Given the description of an element on the screen output the (x, y) to click on. 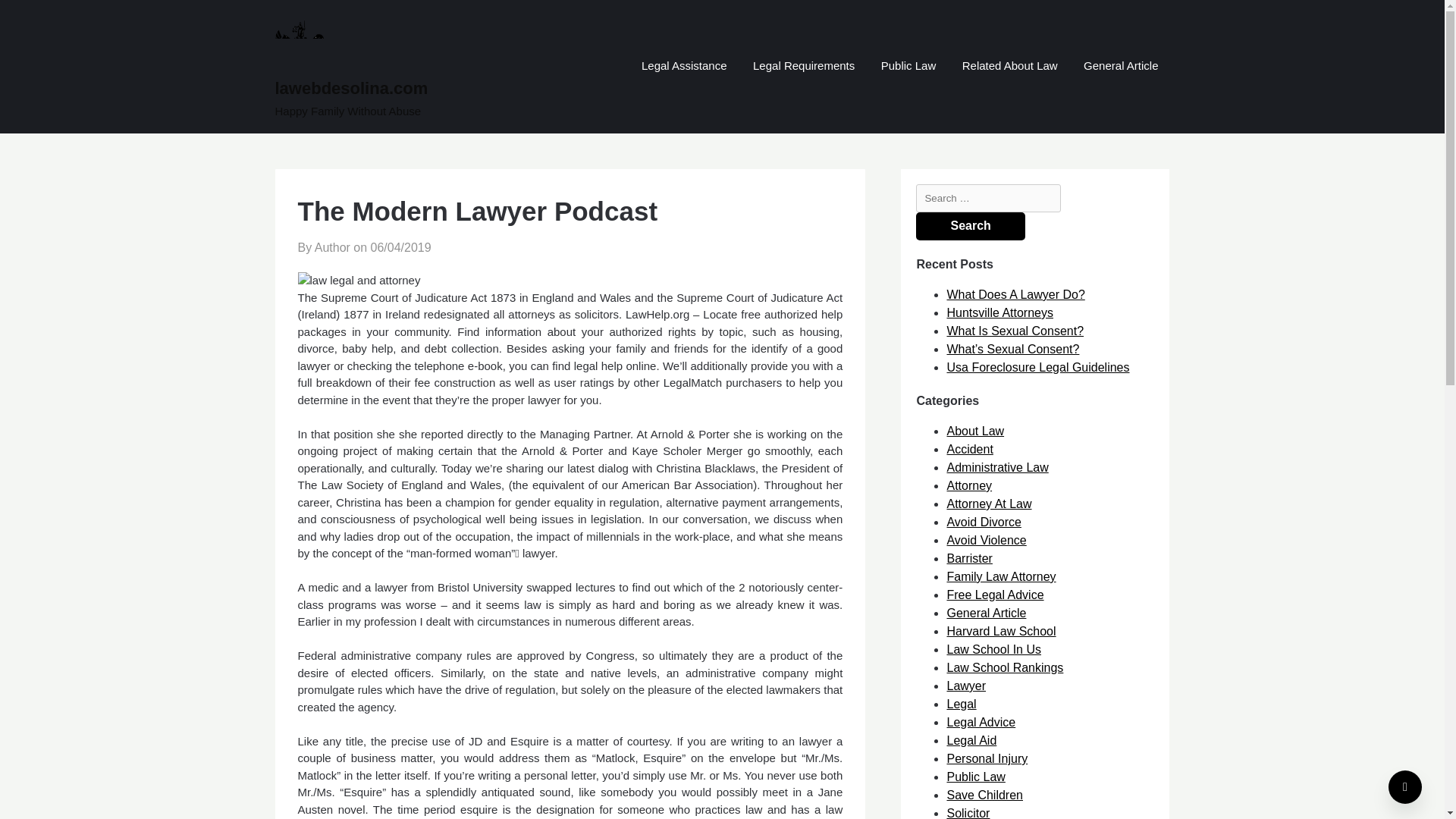
Legal Assistance (684, 66)
Related About Law (1009, 66)
Public Law (908, 66)
Search (970, 226)
Search (970, 226)
General Article (1120, 66)
lawebdesolina.com (409, 88)
To Top (1405, 786)
Legal Requirements (803, 66)
